Given the description of an element on the screen output the (x, y) to click on. 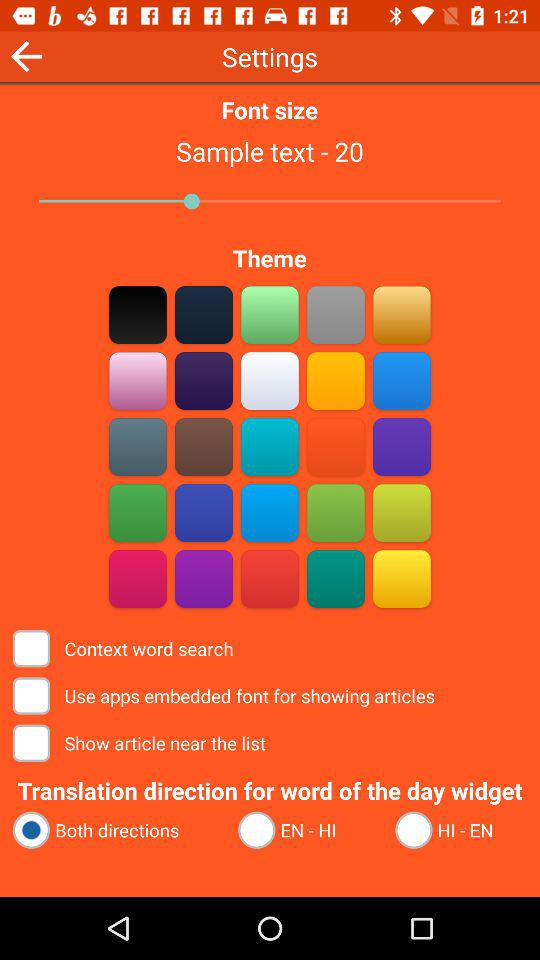
tap the radio button next to the en - hi icon (116, 829)
